Given the description of an element on the screen output the (x, y) to click on. 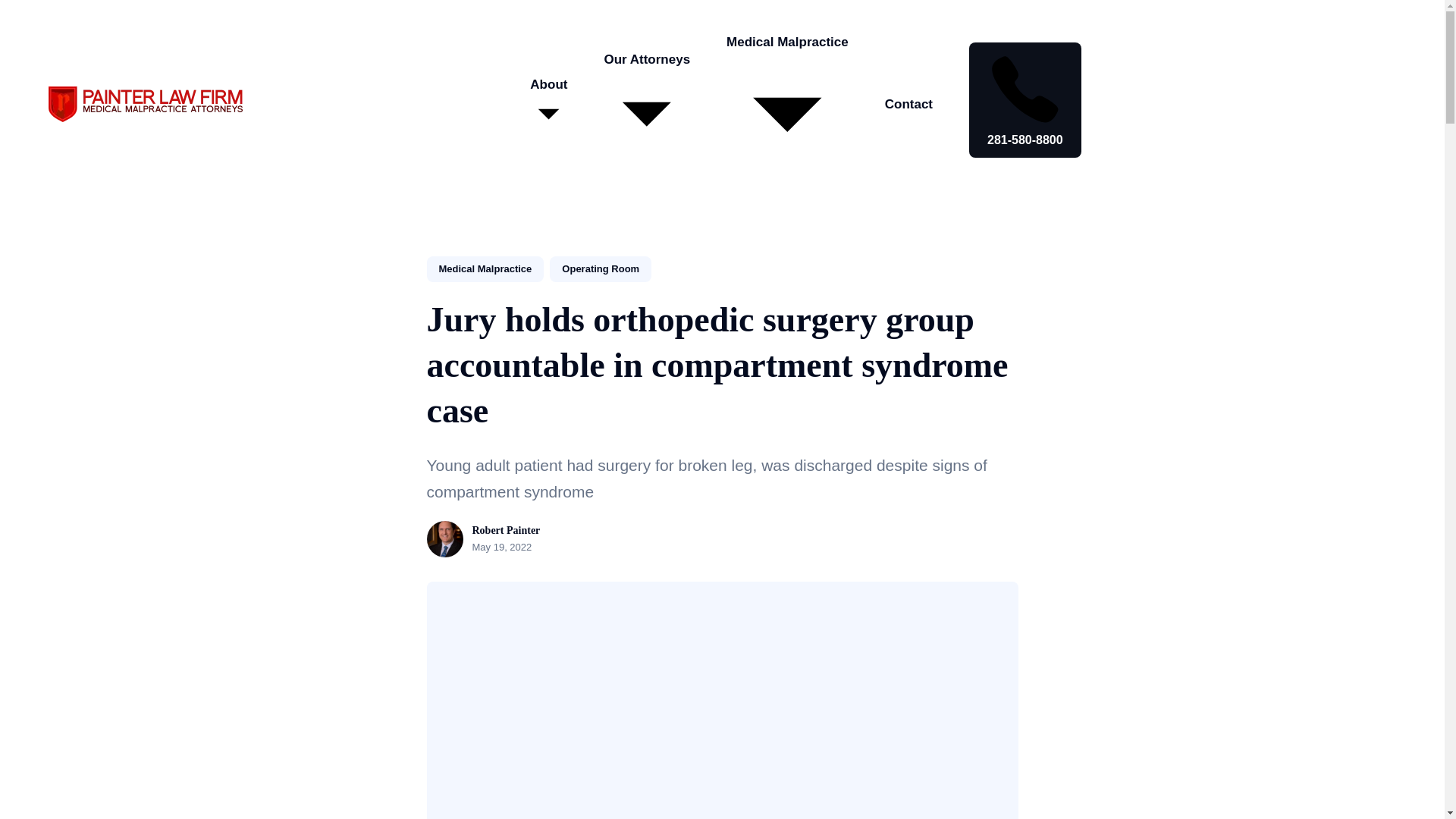
Contact (909, 103)
Medical Malpractice (484, 268)
Operating Room (600, 268)
281-580-8800 (1025, 100)
Robert Painter (505, 530)
